Given the description of an element on the screen output the (x, y) to click on. 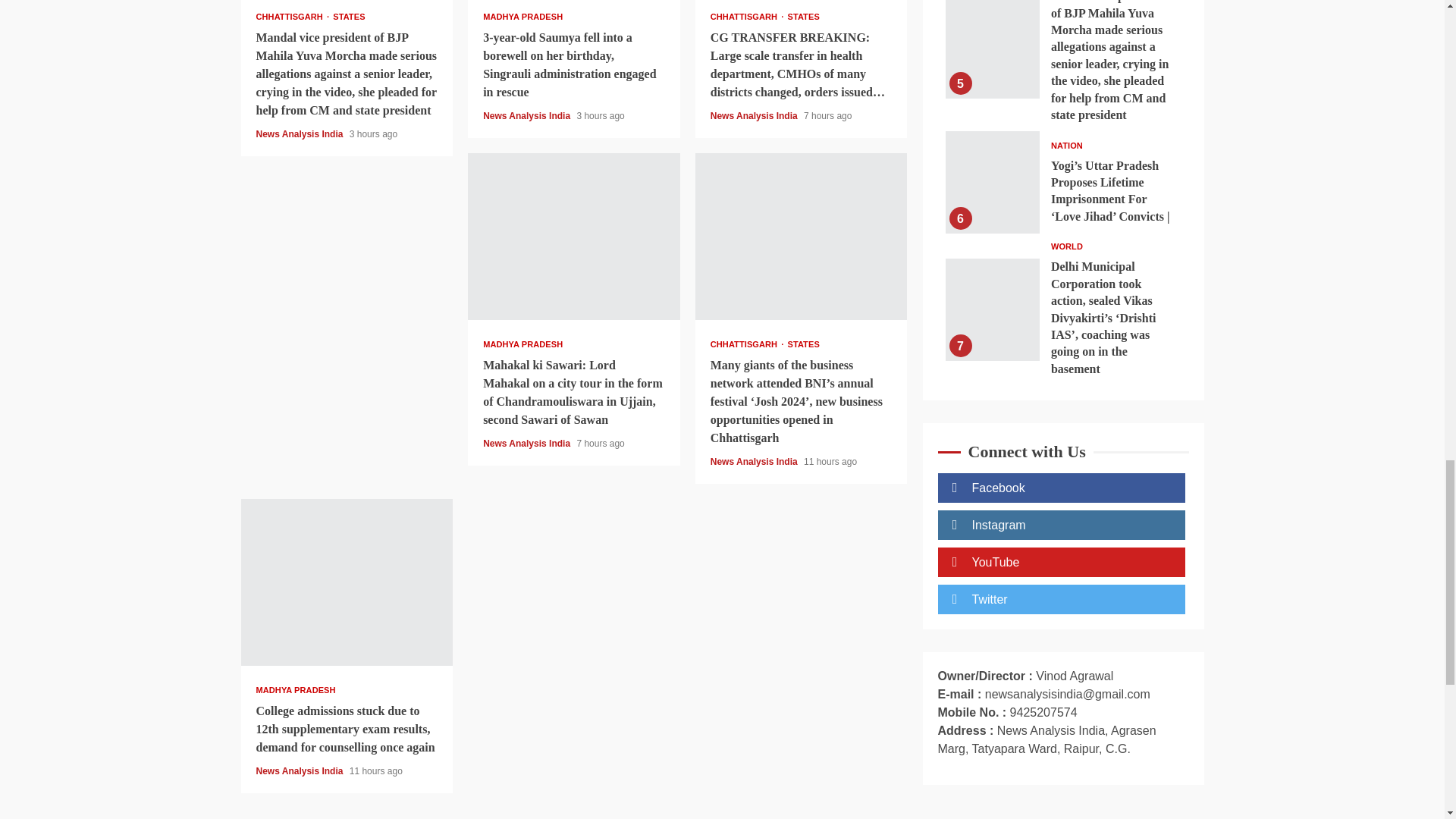
MADHYA PRADESH (522, 17)
News Analysis India (301, 133)
CHHATTISGARH (293, 17)
STATES (349, 17)
